Given the description of an element on the screen output the (x, y) to click on. 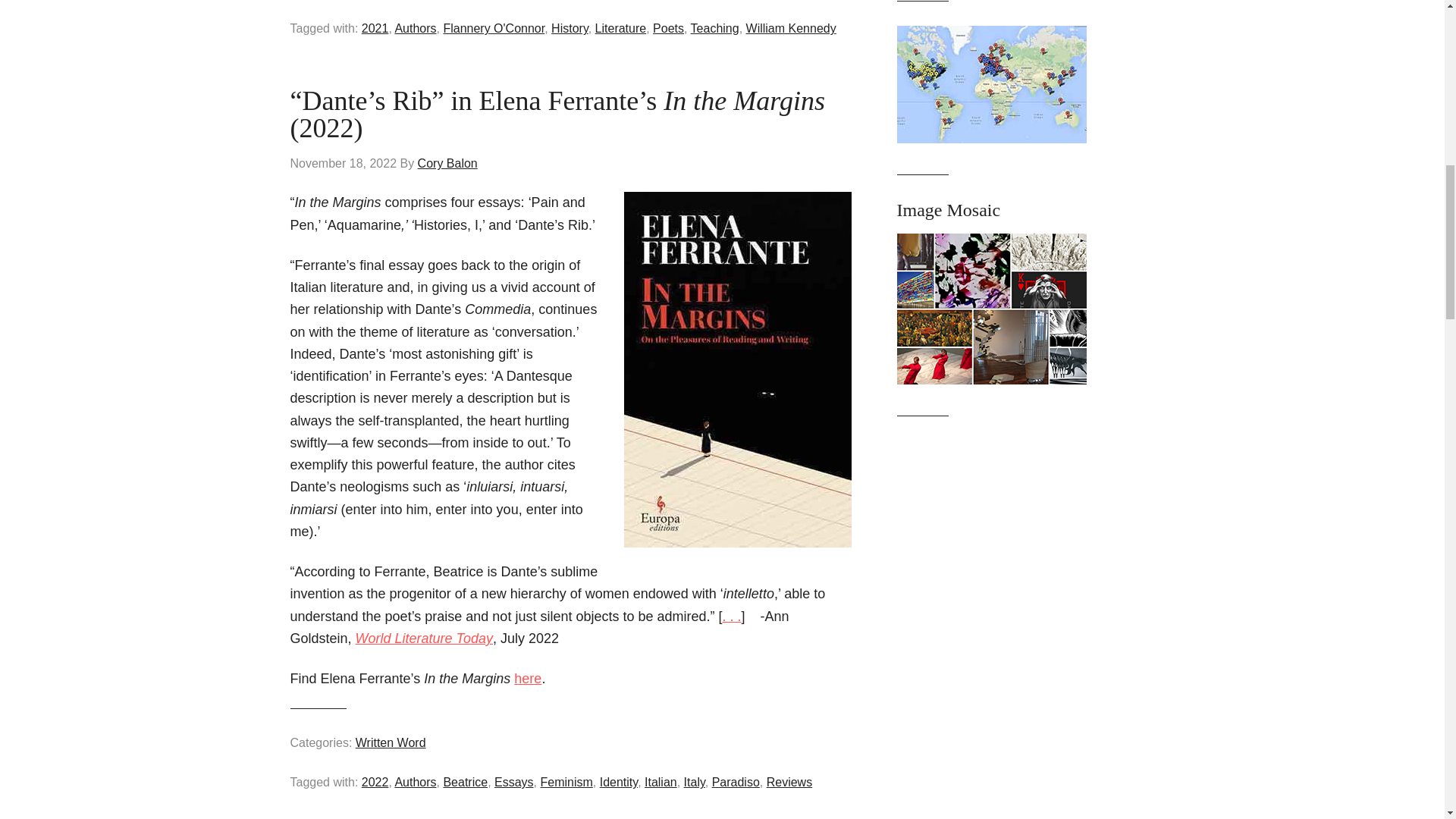
Poets (668, 28)
Authors (414, 781)
Authors (414, 28)
. . . (731, 615)
Paradiso (735, 781)
Reviews (789, 781)
Literature (620, 28)
Italian (661, 781)
Written Word (390, 742)
Feminism (566, 781)
Beatrice (464, 781)
Flannery O'Connor (493, 28)
Teaching (714, 28)
World Literature Today (424, 638)
Essays (514, 781)
